Given the description of an element on the screen output the (x, y) to click on. 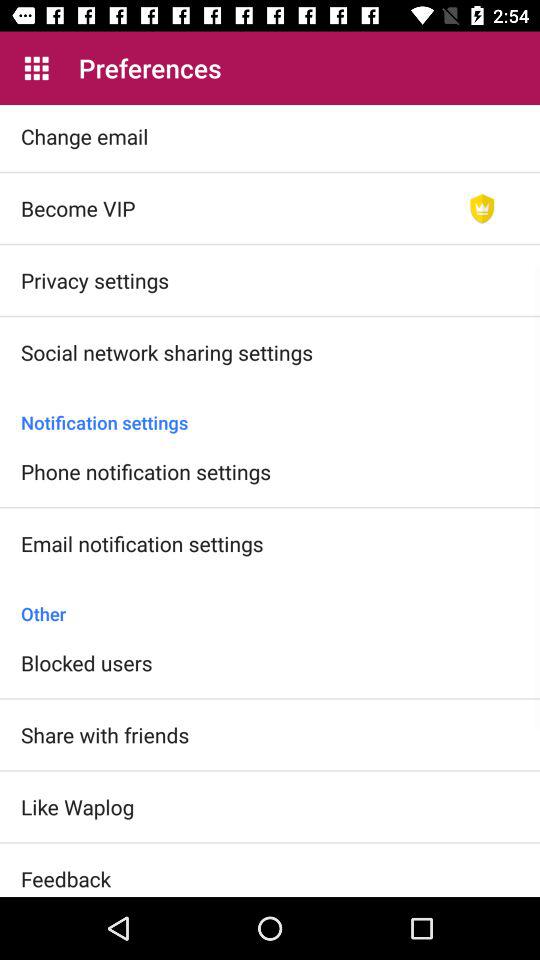
press icon below the blocked users item (105, 734)
